Given the description of an element on the screen output the (x, y) to click on. 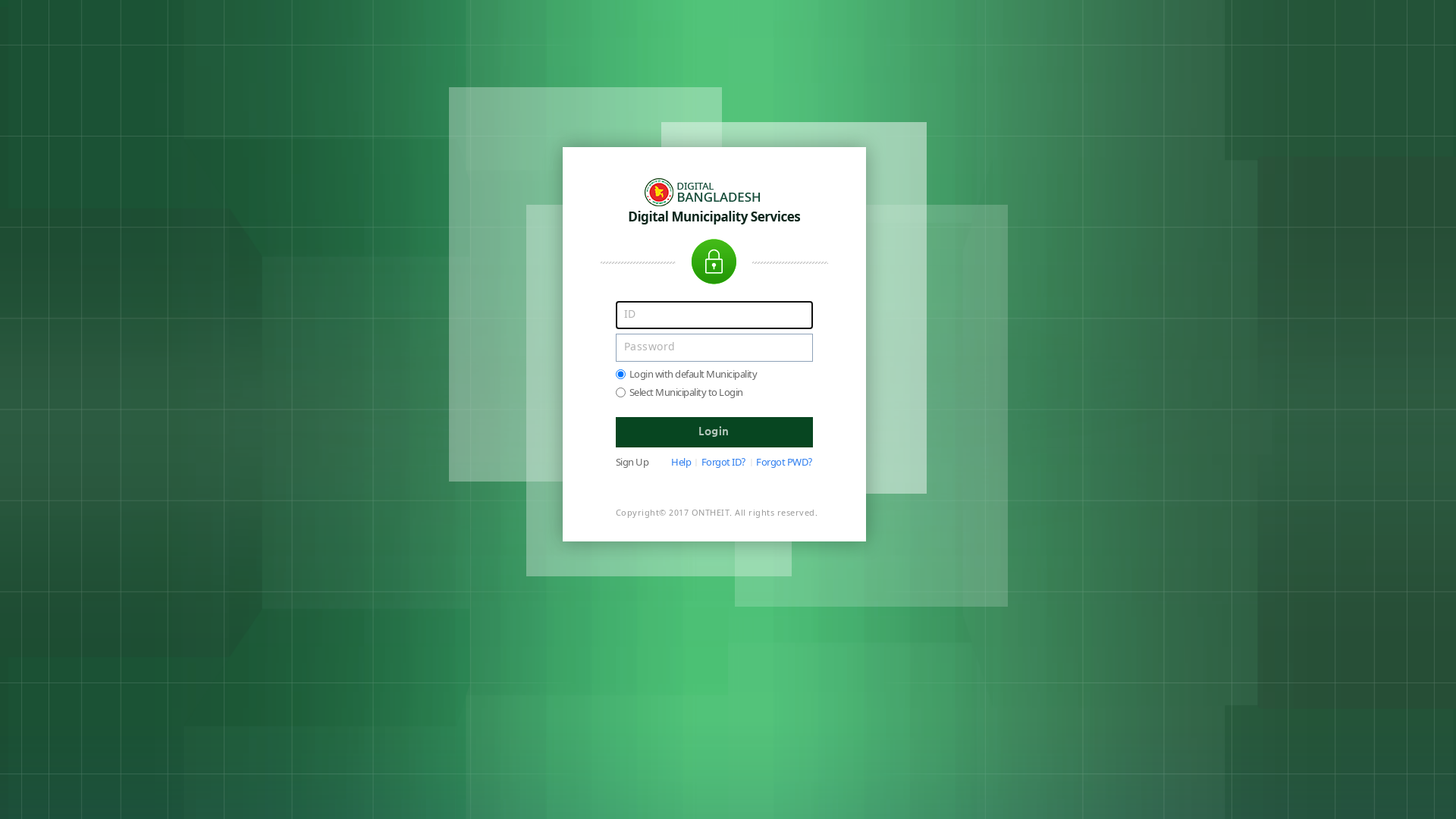
Forgot ID? Element type: text (722, 462)
Forgot PWD? Element type: text (784, 462)
Login Element type: text (713, 432)
Help Element type: text (680, 462)
0 Element type: text (620, 374)
Sign Up Element type: text (632, 462)
S Element type: text (620, 392)
